Given the description of an element on the screen output the (x, y) to click on. 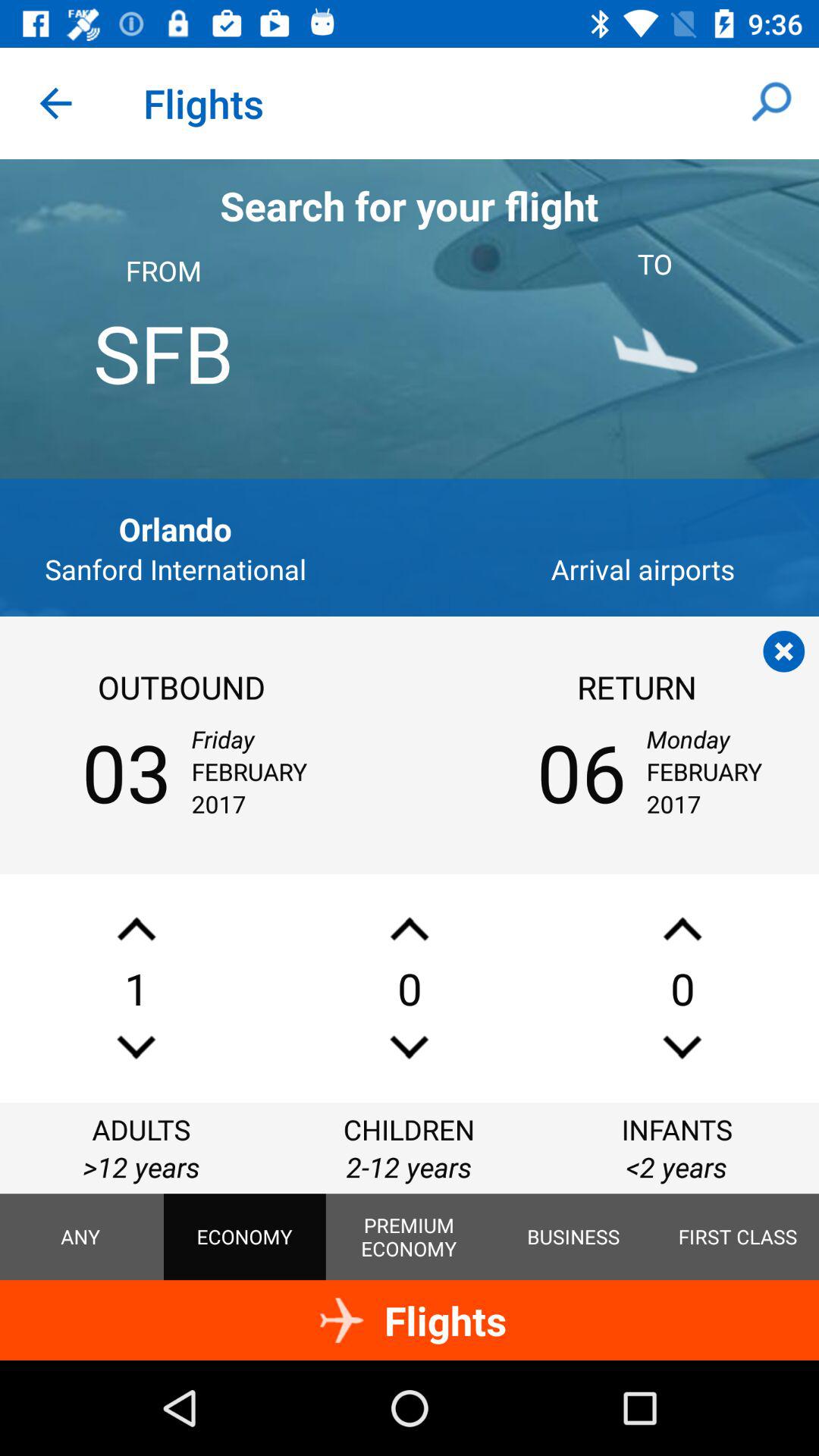
add children (409, 928)
